Given the description of an element on the screen output the (x, y) to click on. 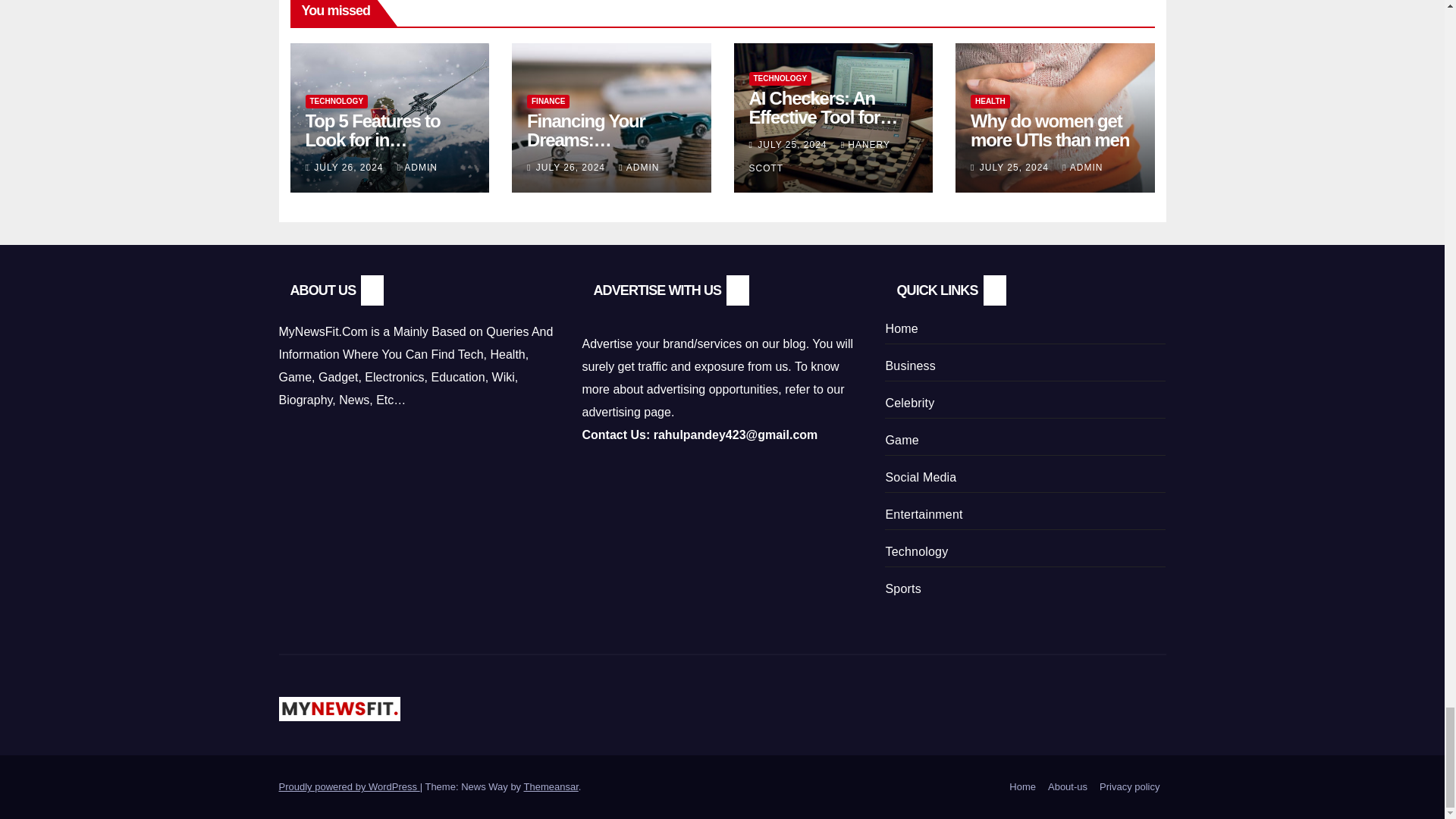
Permalink to: Why do women get more UTIs than men (1050, 129)
